Given the description of an element on the screen output the (x, y) to click on. 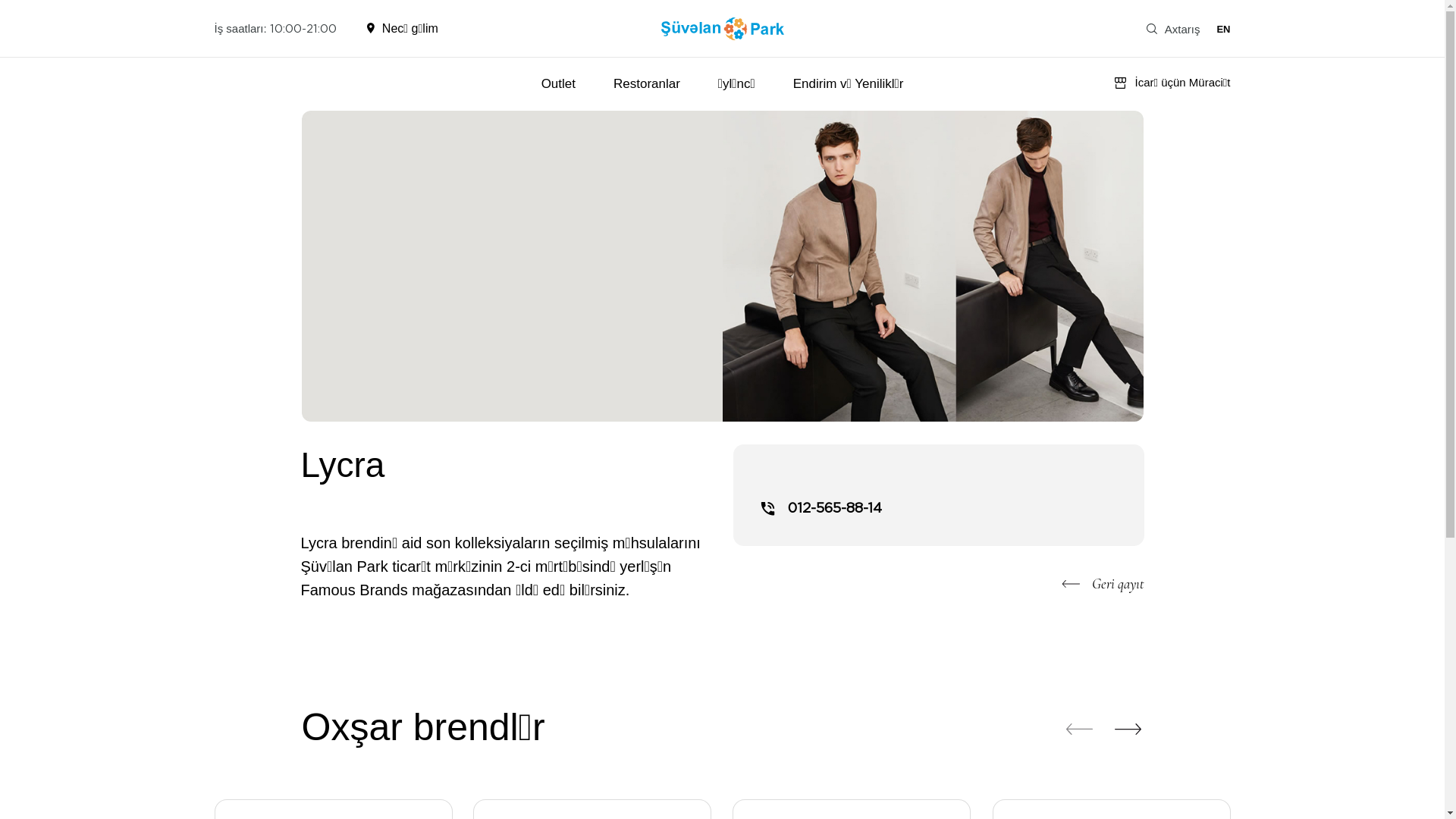
012-565-88-14 Element type: text (820, 508)
EN Element type: text (1223, 29)
Restoranlar Element type: text (646, 83)
Outlet Element type: text (558, 83)
Group 40 Created with Sketch. Element type: text (722, 27)
